Given the description of an element on the screen output the (x, y) to click on. 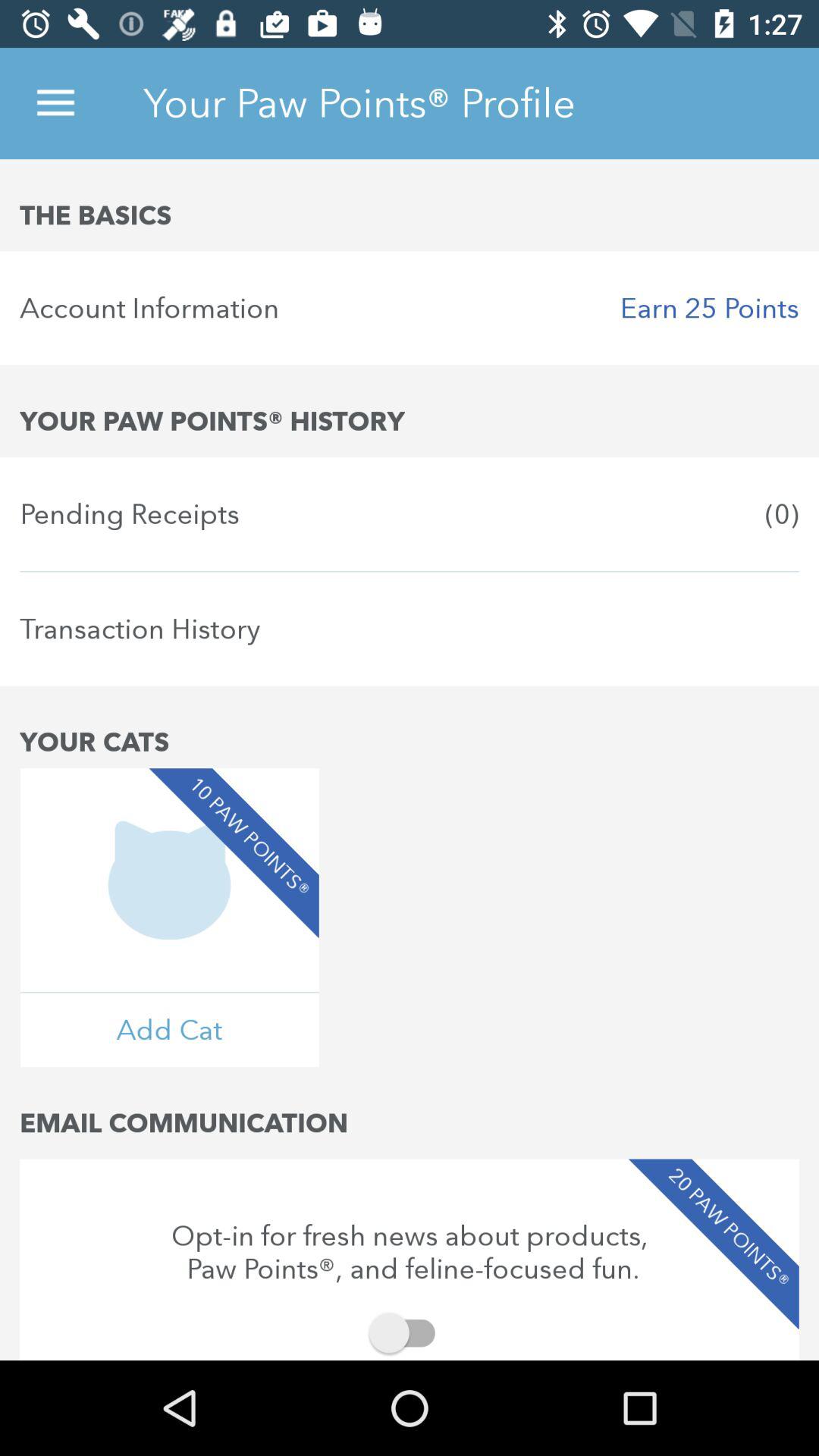
open item below opt in for item (409, 1332)
